Given the description of an element on the screen output the (x, y) to click on. 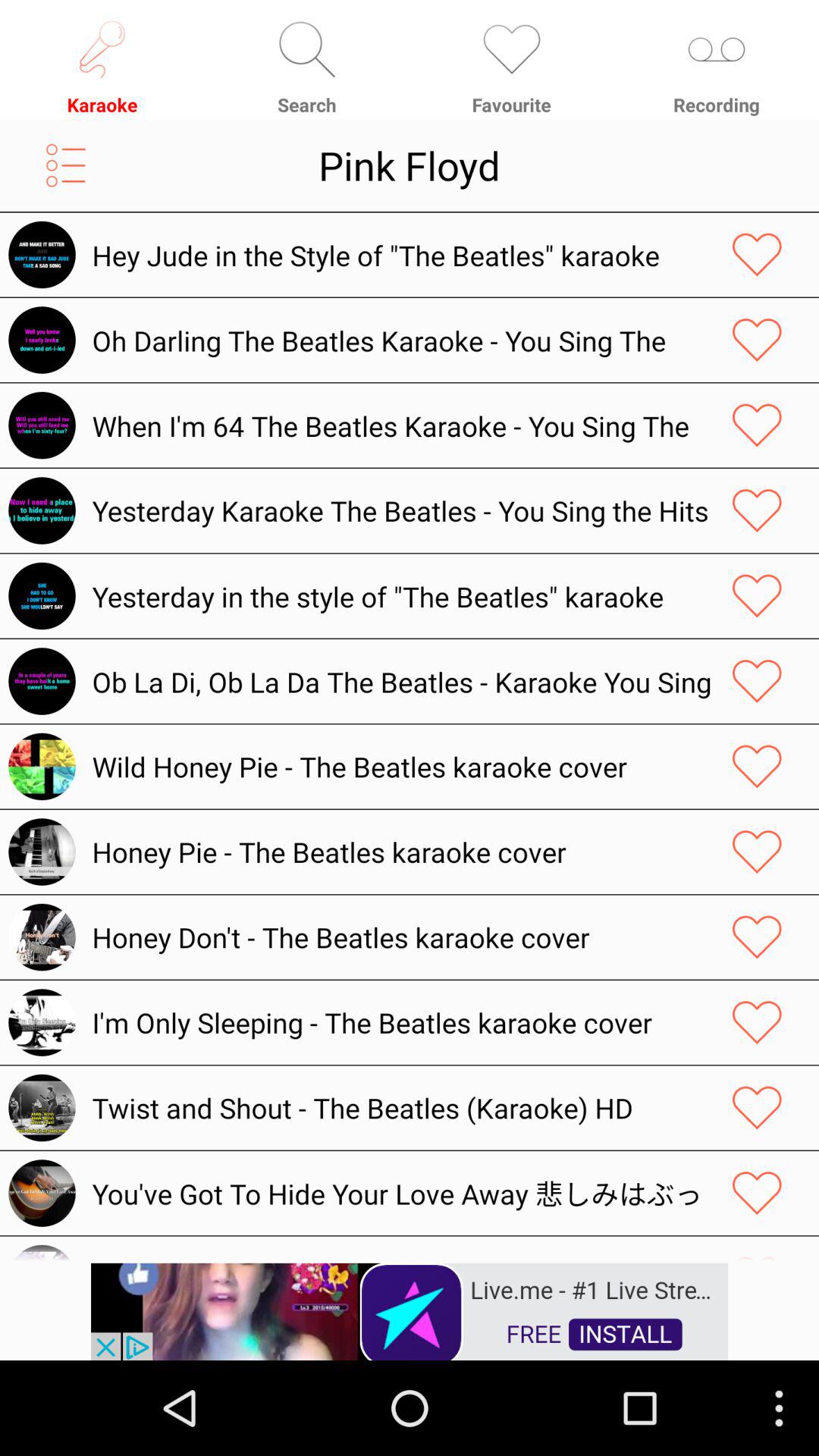
add this song to your favorites list (756, 510)
